Given the description of an element on the screen output the (x, y) to click on. 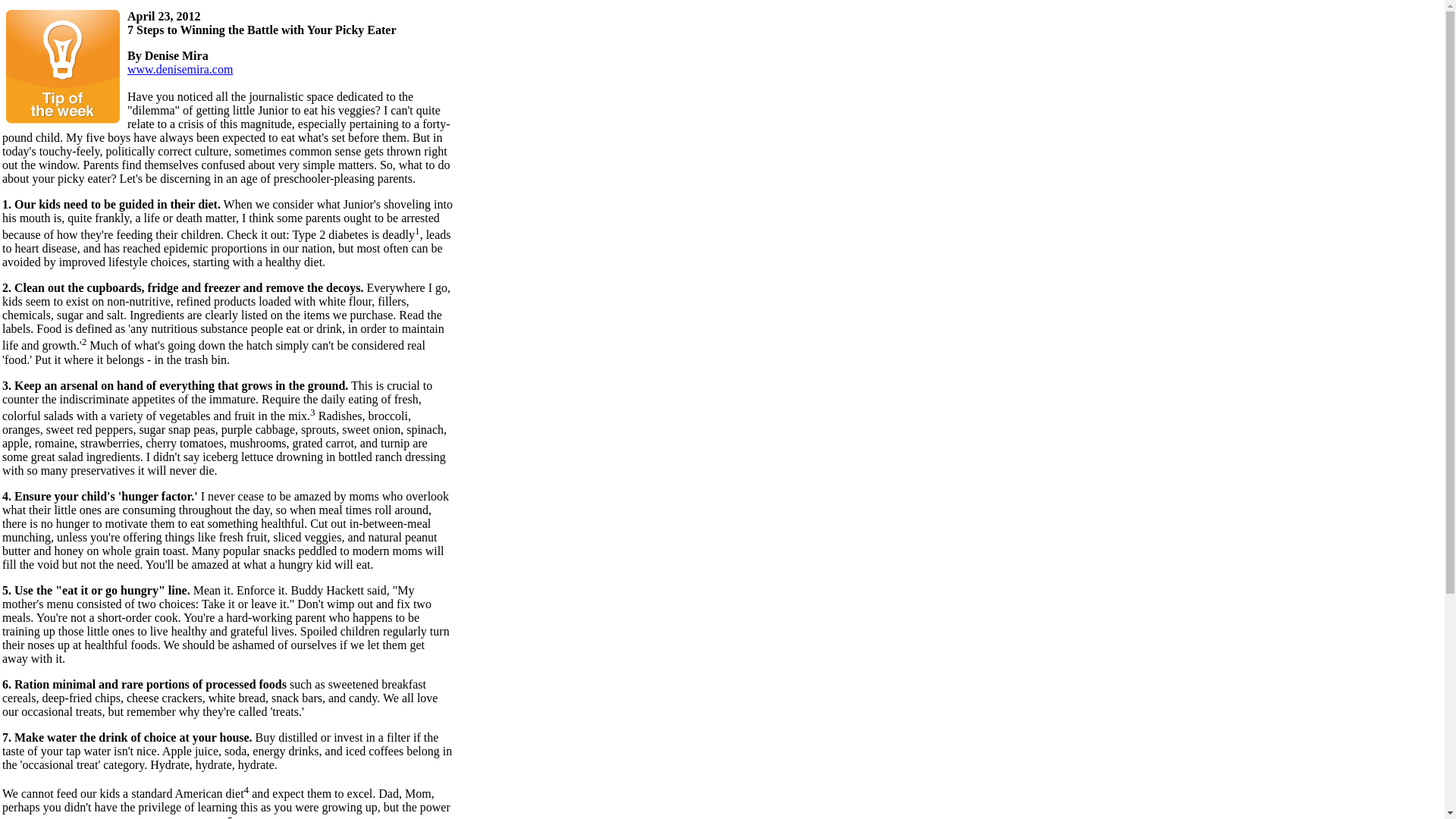
www.denisemira.com (180, 69)
